Given the description of an element on the screen output the (x, y) to click on. 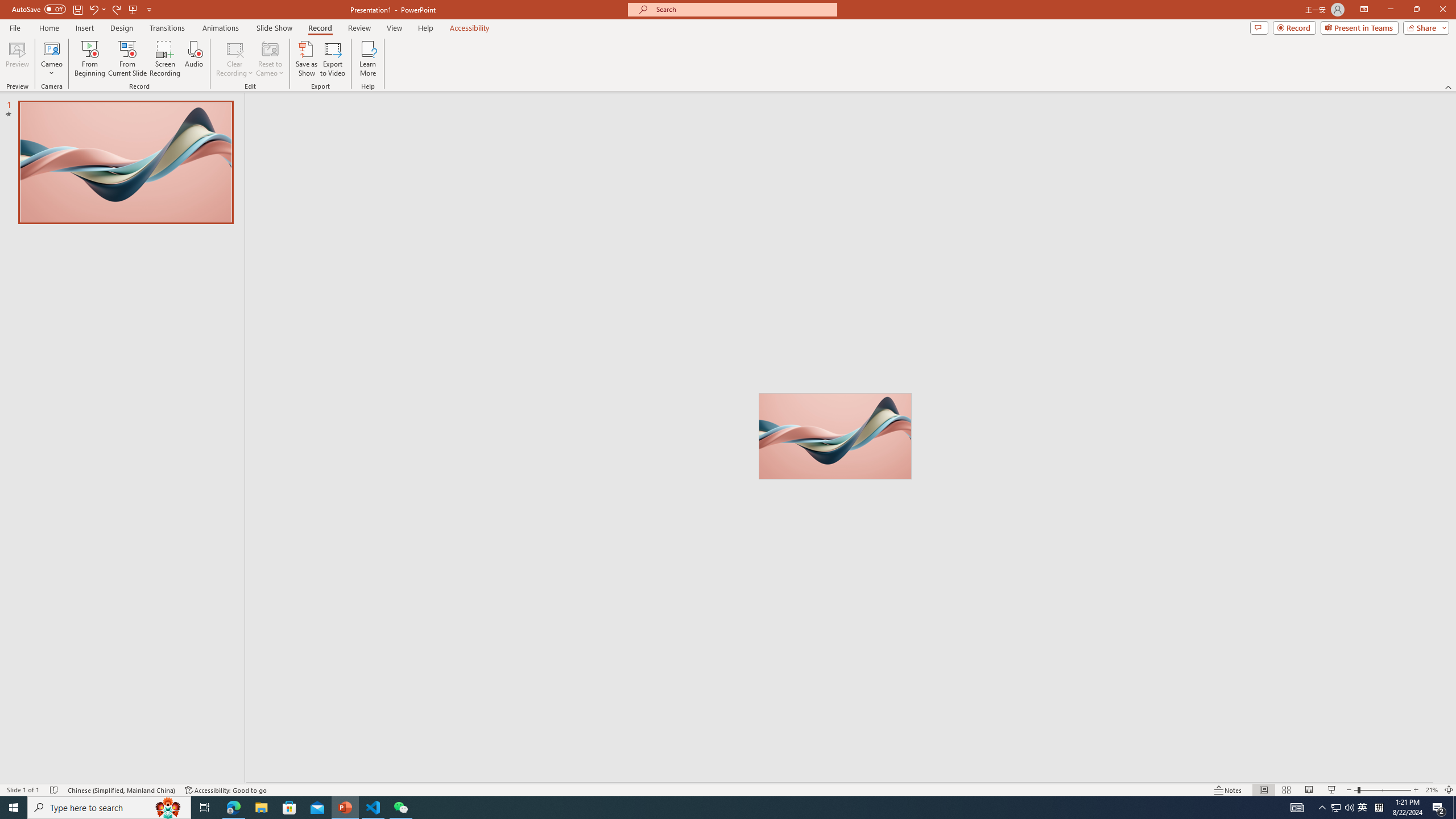
From Beginning... (89, 58)
Cameo (51, 58)
Wavy 3D art (834, 436)
Learn More (368, 58)
